Given the description of an element on the screen output the (x, y) to click on. 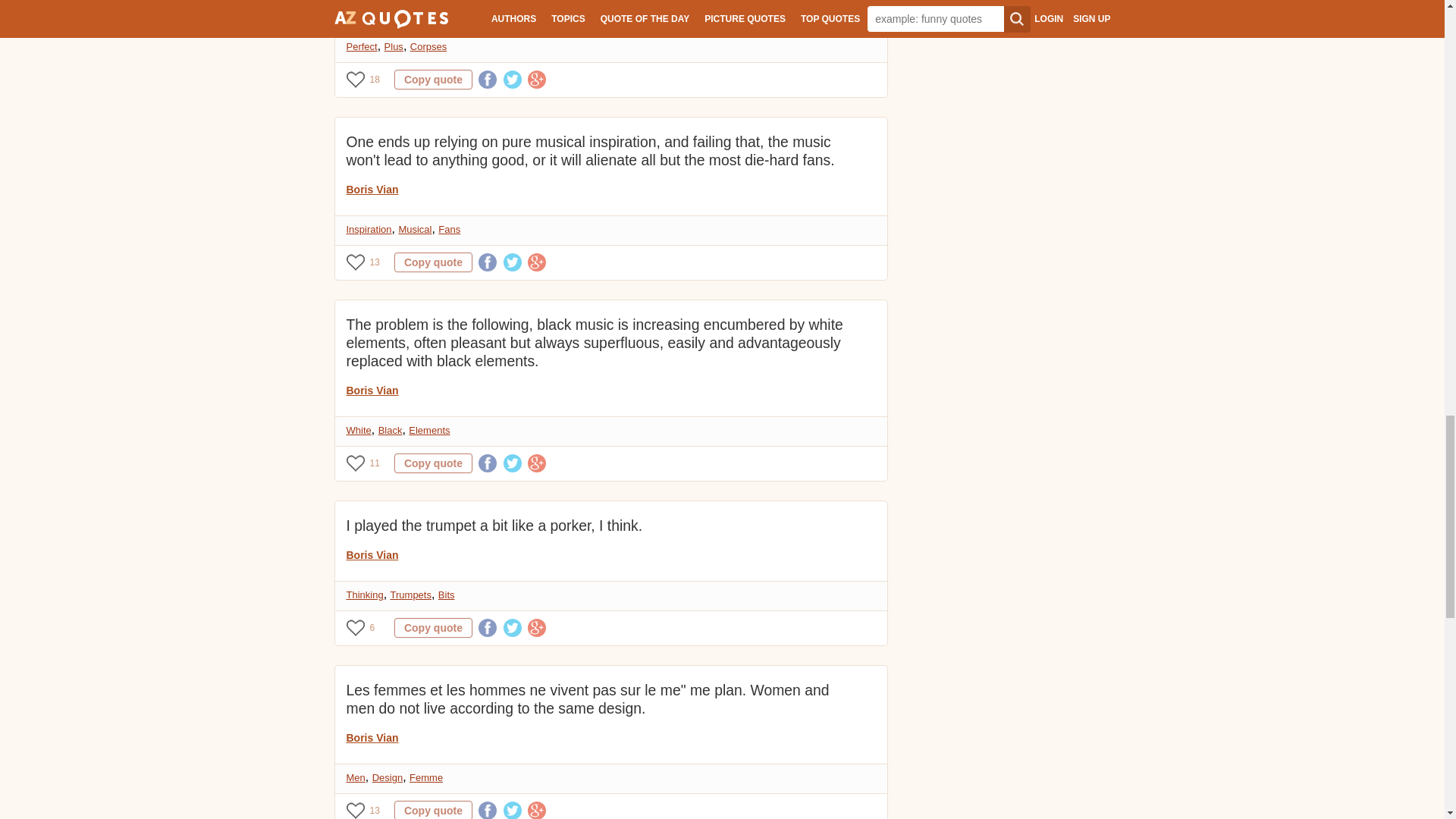
Quote is copied (432, 463)
Quote is copied (432, 628)
Quote is copied (432, 79)
Quote is copied (432, 261)
Quote is copied (432, 809)
